Given the description of an element on the screen output the (x, y) to click on. 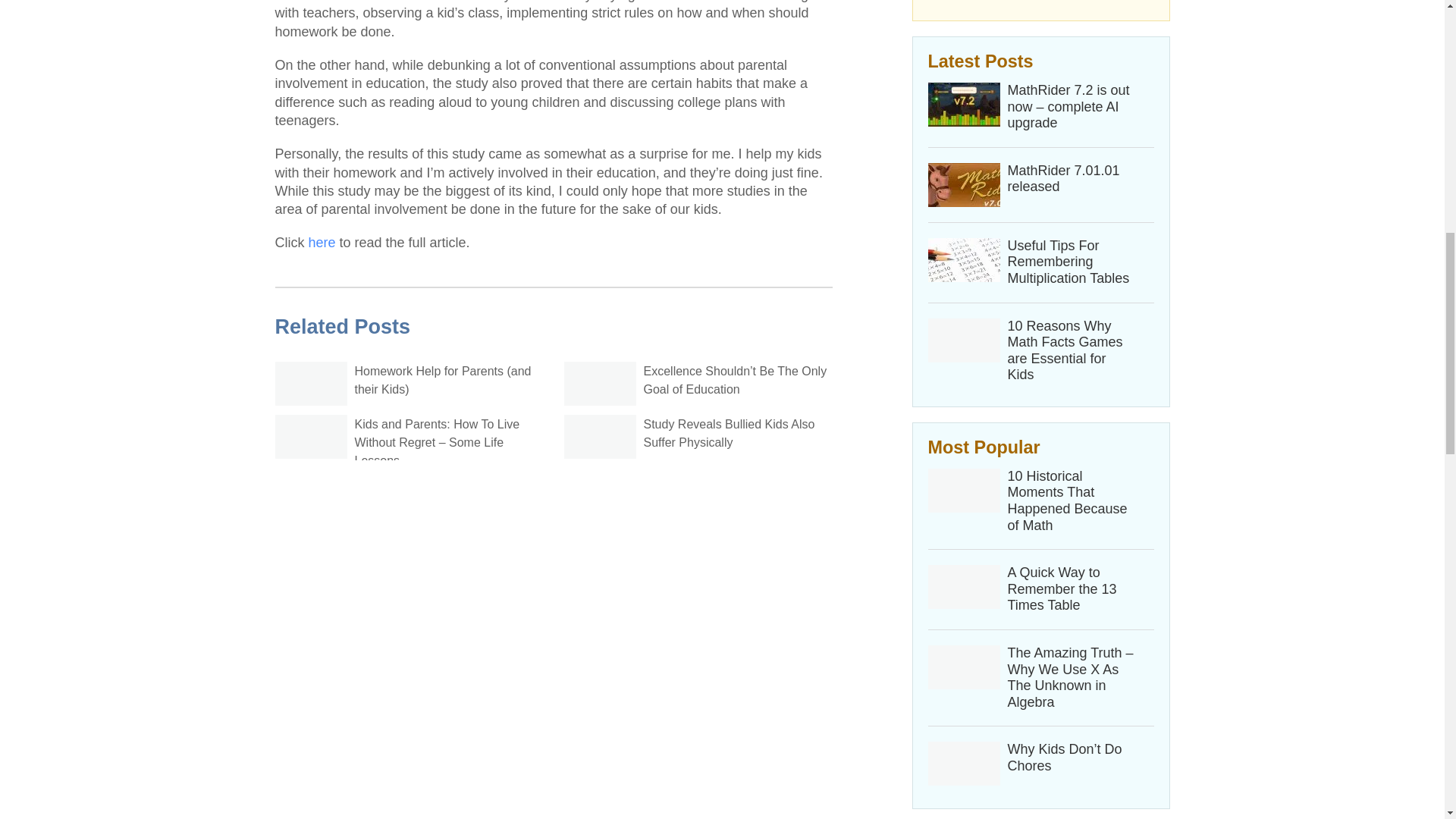
10 Reasons Why Math Facts Games are Essential for Kids (1071, 351)
MathRider 7.01.01 released (1071, 178)
here (320, 242)
Click here for more details (1041, 6)
Study Reveals Bullied Kids Also Suffer Physically (728, 432)
Useful Tips For Remembering Multiplication Tables (1071, 262)
